Given the description of an element on the screen output the (x, y) to click on. 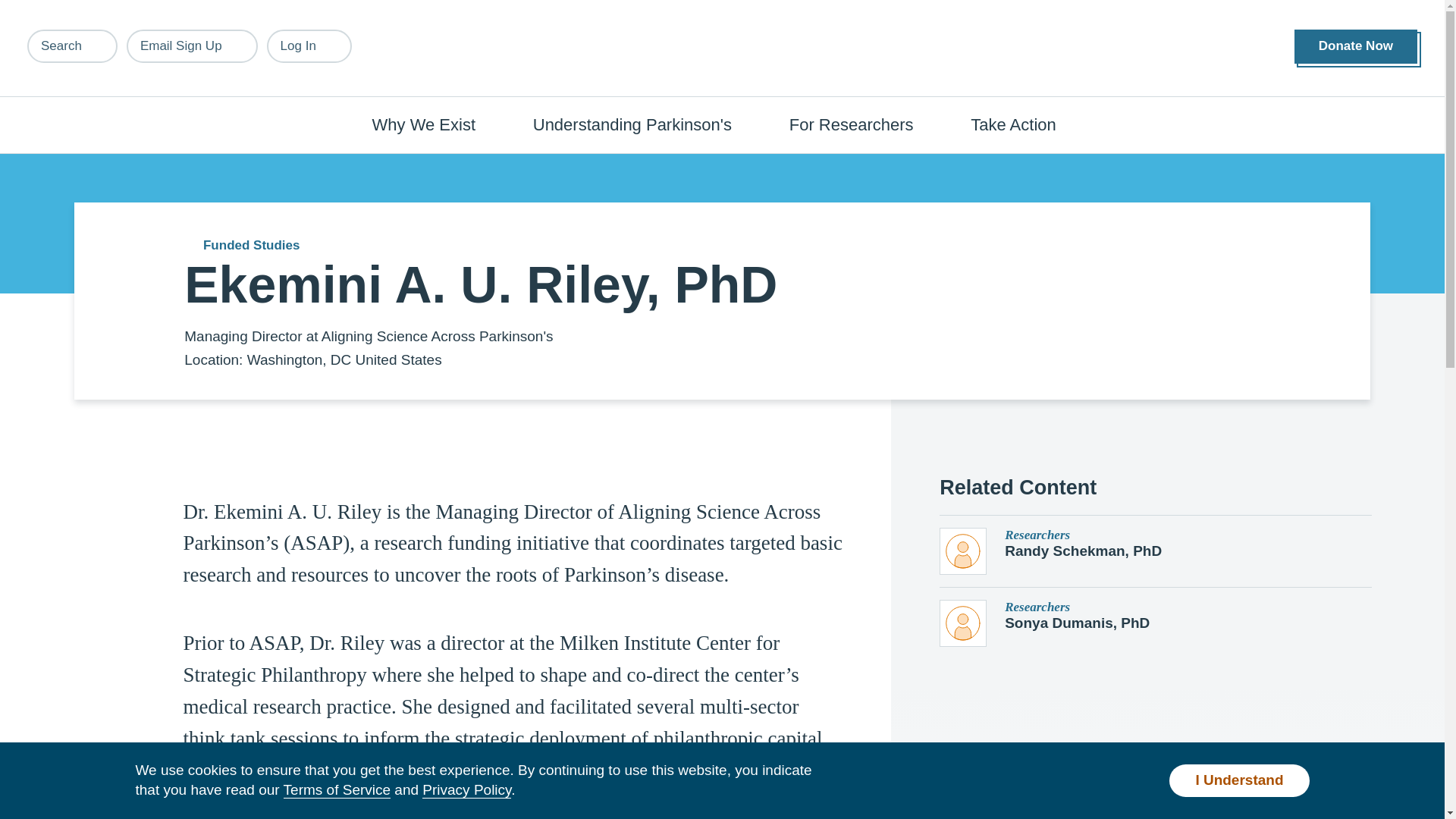
Email Sign Up (191, 46)
Log In (309, 46)
Search (72, 46)
Why We Exist (432, 125)
Understanding Parkinson's (640, 125)
Donate Now (1355, 46)
Skip to main content (96, 7)
Home Page (722, 48)
